Given the description of an element on the screen output the (x, y) to click on. 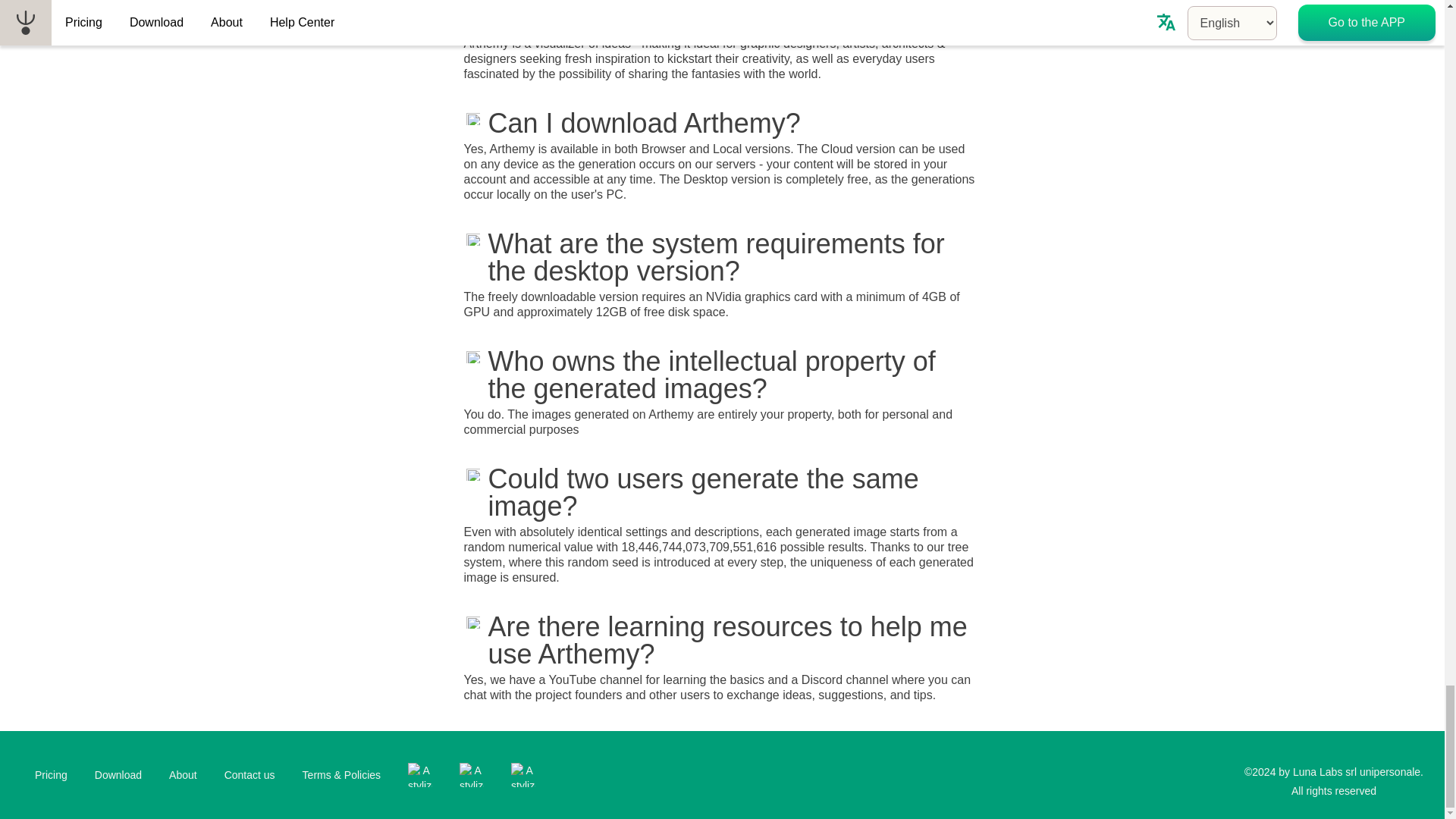
About (183, 774)
Download (118, 774)
Contact us (249, 774)
Pricing (51, 774)
